Given the description of an element on the screen output the (x, y) to click on. 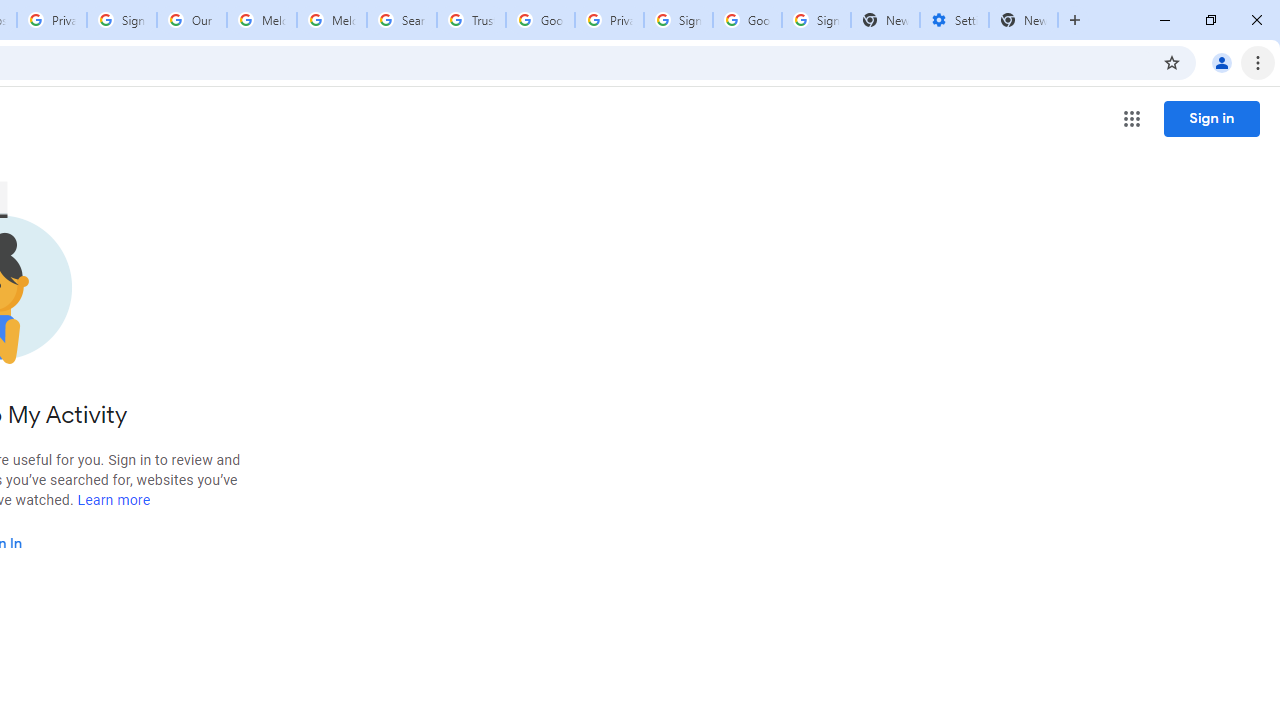
Sign in - Google Accounts (816, 20)
New Tab (1023, 20)
Trusted Information and Content - Google Safety Center (470, 20)
